Given the description of an element on the screen output the (x, y) to click on. 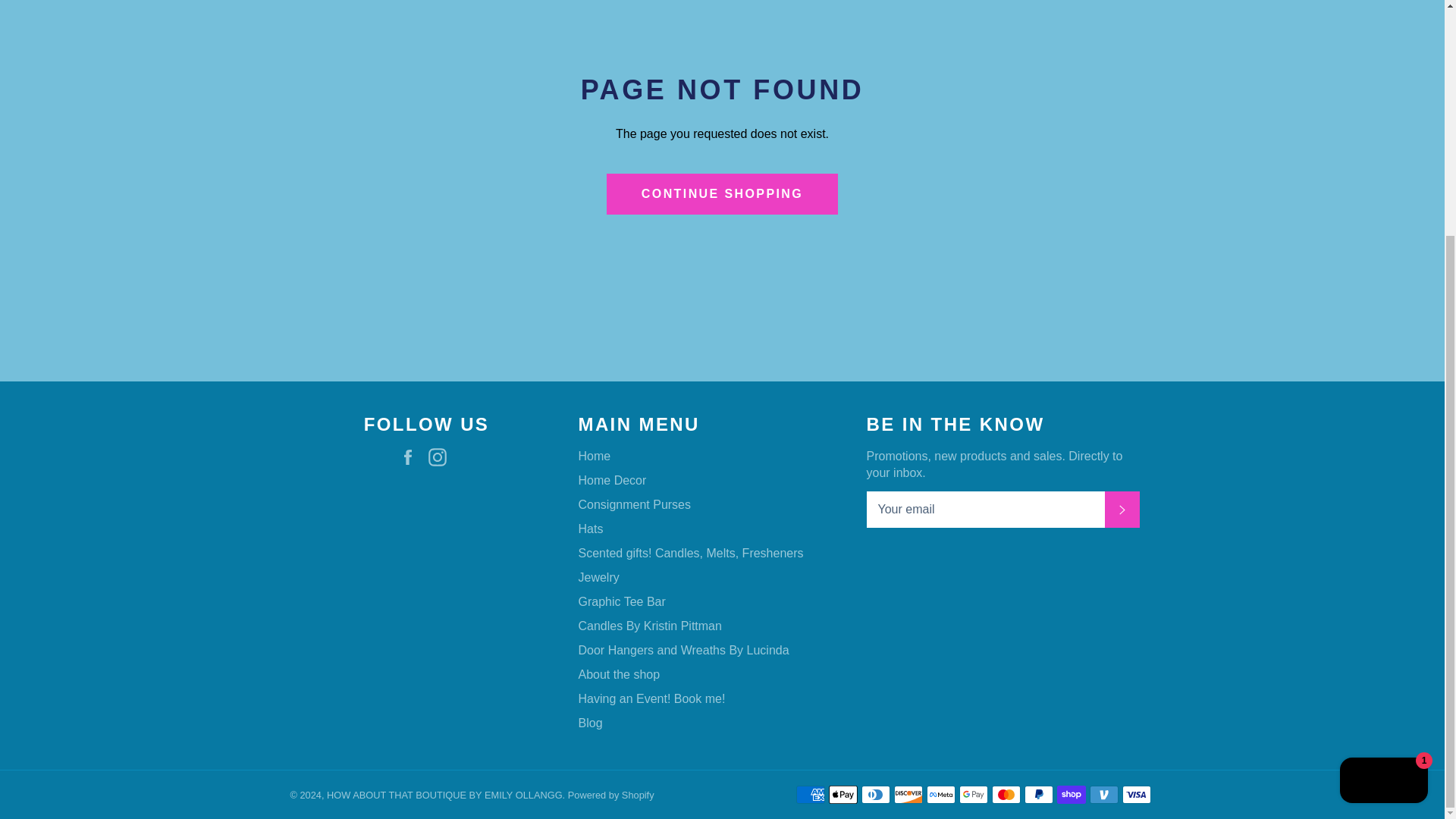
Shopify online store chat (1383, 461)
HOW ABOUT THAT BOUTIQUE BY EMILY OLLANGG on Instagram (441, 456)
HOW ABOUT THAT BOUTIQUE BY EMILY OLLANGG on Facebook (411, 456)
